Given the description of an element on the screen output the (x, y) to click on. 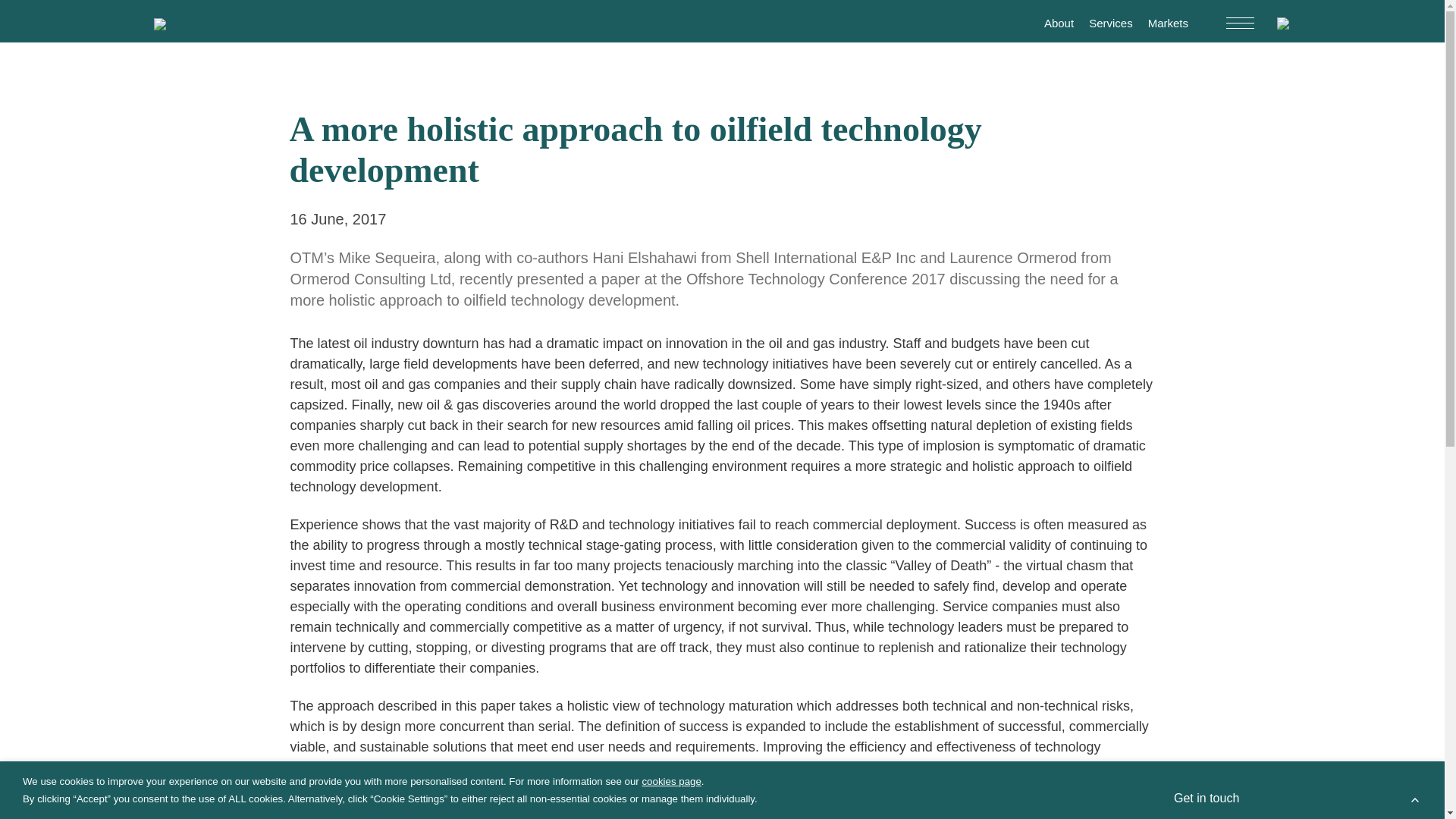
About (307, 630)
London, UK (1121, 633)
OnePetro (1116, 818)
Great Burgh, UK (1033, 633)
Services (363, 630)
TP Group (470, 699)
Washington DC, USA (1098, 648)
Frontier Smart Technologies (359, 699)
Science Group (334, 609)
About (1058, 22)
